Given the description of an element on the screen output the (x, y) to click on. 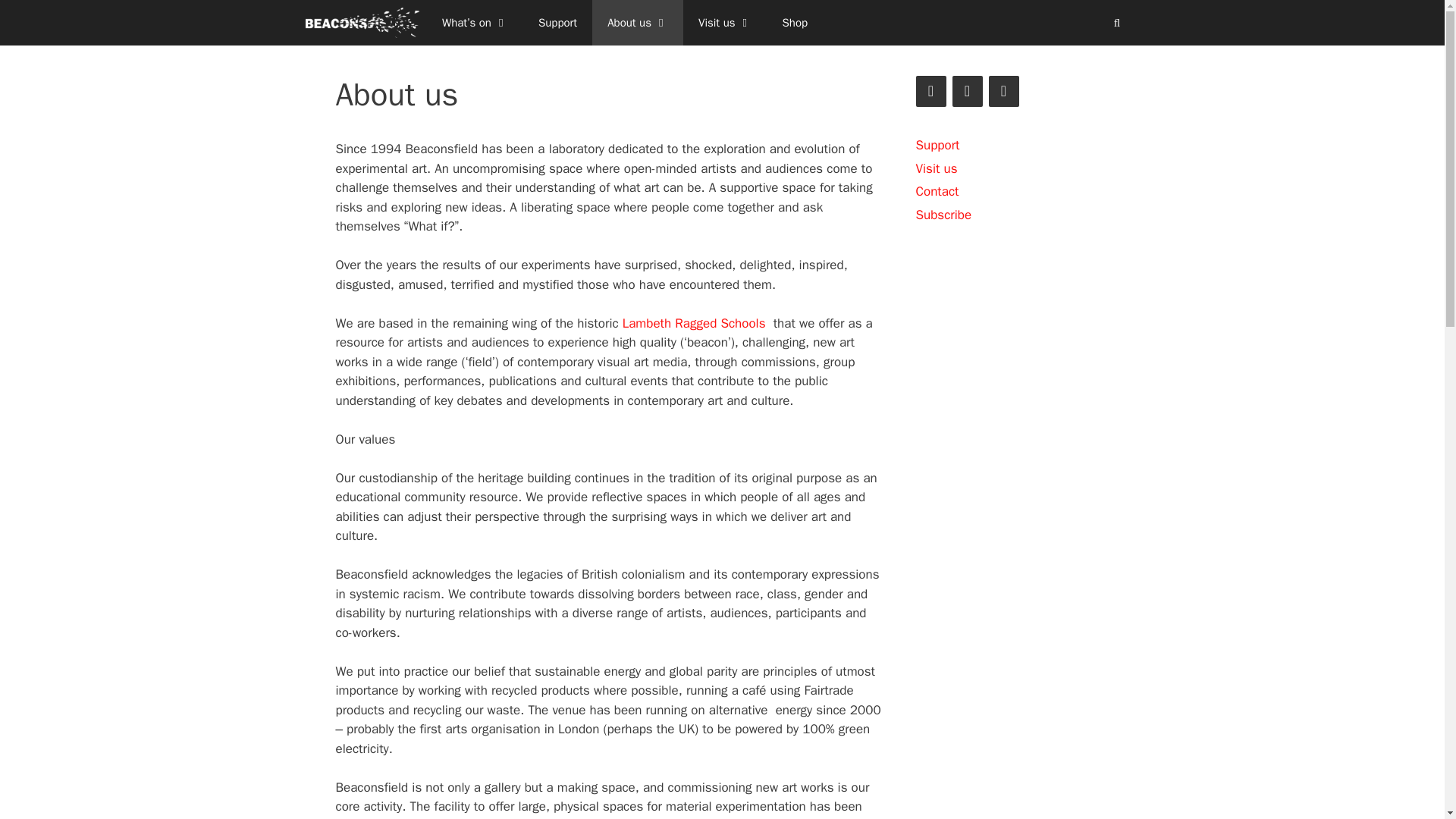
Visit us (724, 22)
Beaconsfield (361, 22)
Twitter (930, 91)
Instagram (1003, 91)
Shop (795, 22)
About us (637, 22)
Facebook (967, 91)
Support (557, 22)
